Given the description of an element on the screen output the (x, y) to click on. 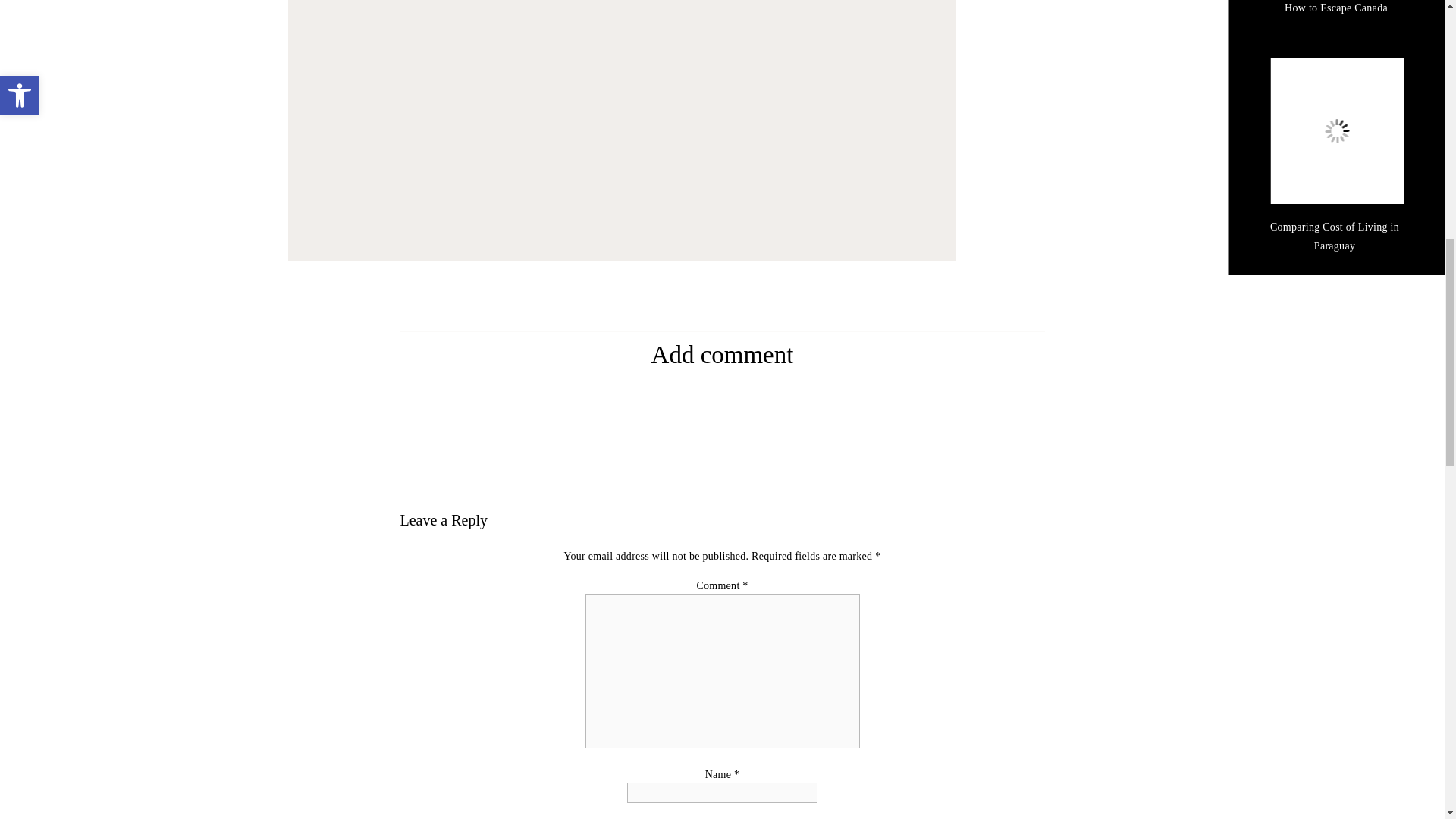
Comparing Cost of Living in Paraguay (1336, 130)
